Given the description of an element on the screen output the (x, y) to click on. 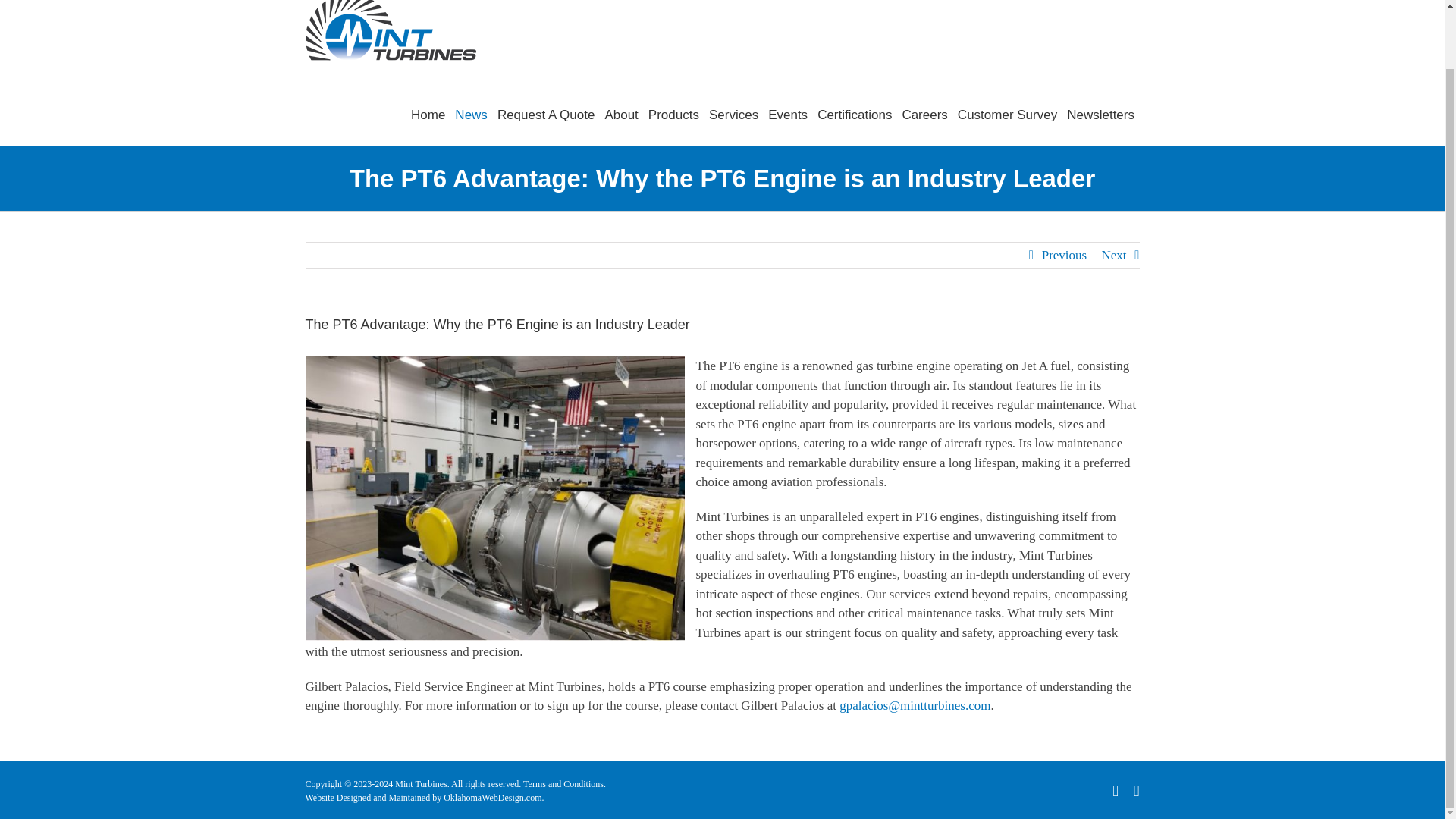
Careers (924, 114)
Services (732, 114)
Certifications (854, 114)
Products (673, 114)
Request A Quote (545, 114)
Newsletters (1101, 114)
Customer Survey (1006, 114)
